Given the description of an element on the screen output the (x, y) to click on. 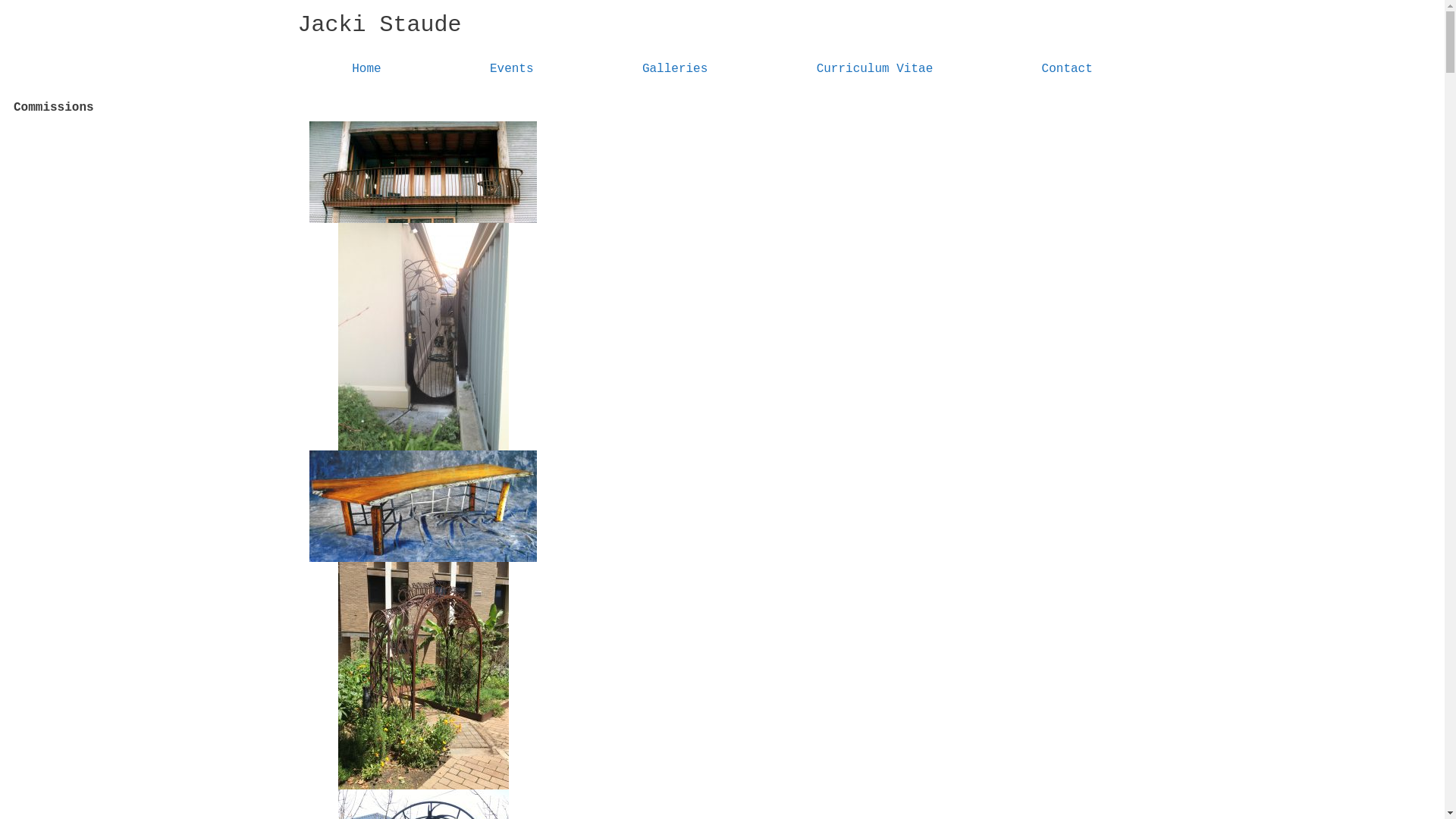
Home Element type: text (366, 68)
Galleries Element type: text (674, 68)
Contact Element type: text (1067, 68)
Events Element type: text (511, 68)
Curriculum Vitae Element type: text (874, 68)
